Given the description of an element on the screen output the (x, y) to click on. 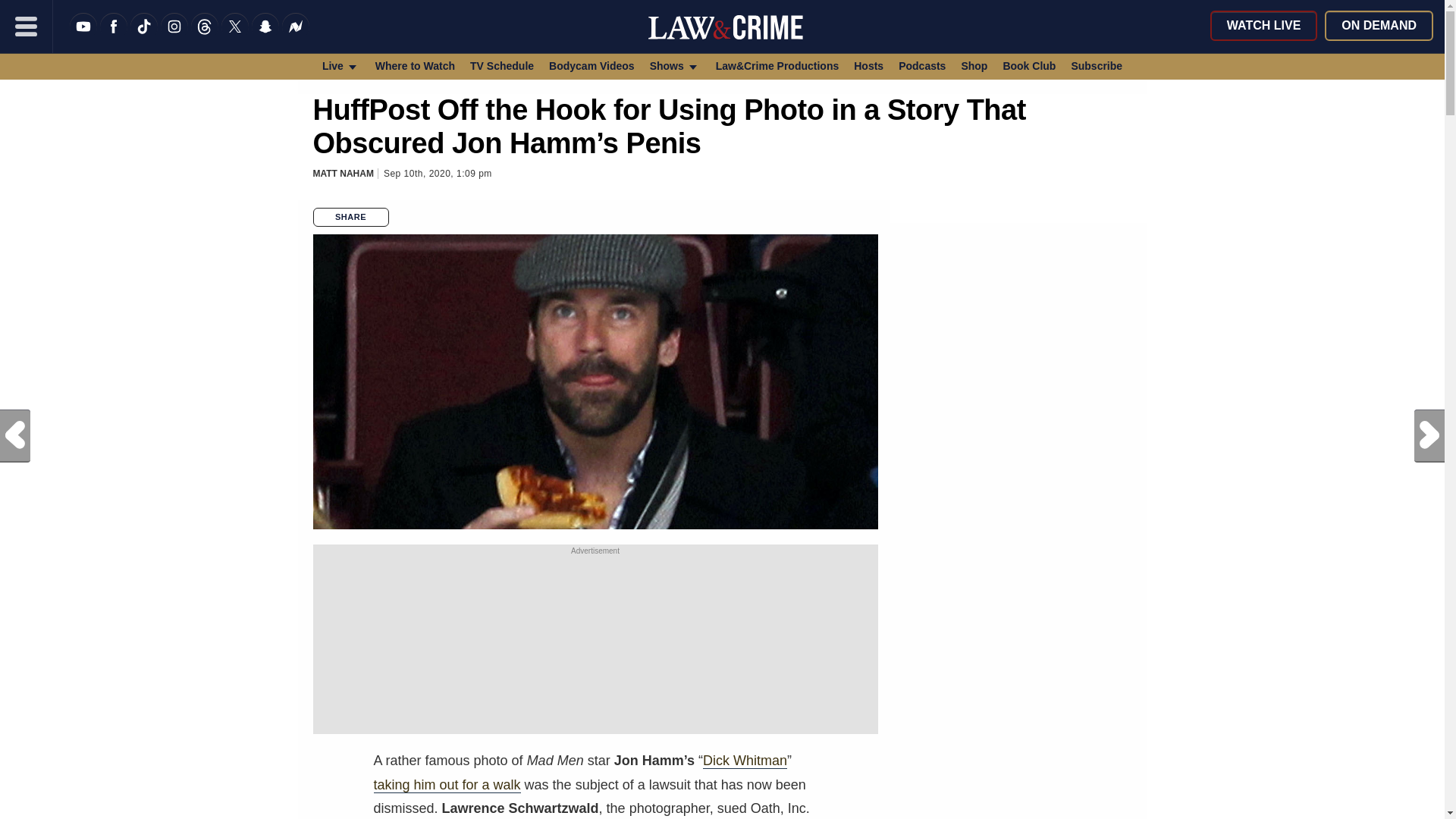
Posts by Matt Naham (342, 173)
Instagram (173, 35)
Like us on Facebook (114, 35)
Snapchat (265, 35)
TikTok (144, 35)
Threads (204, 35)
YouTube (83, 35)
News Break (295, 35)
